Given the description of an element on the screen output the (x, y) to click on. 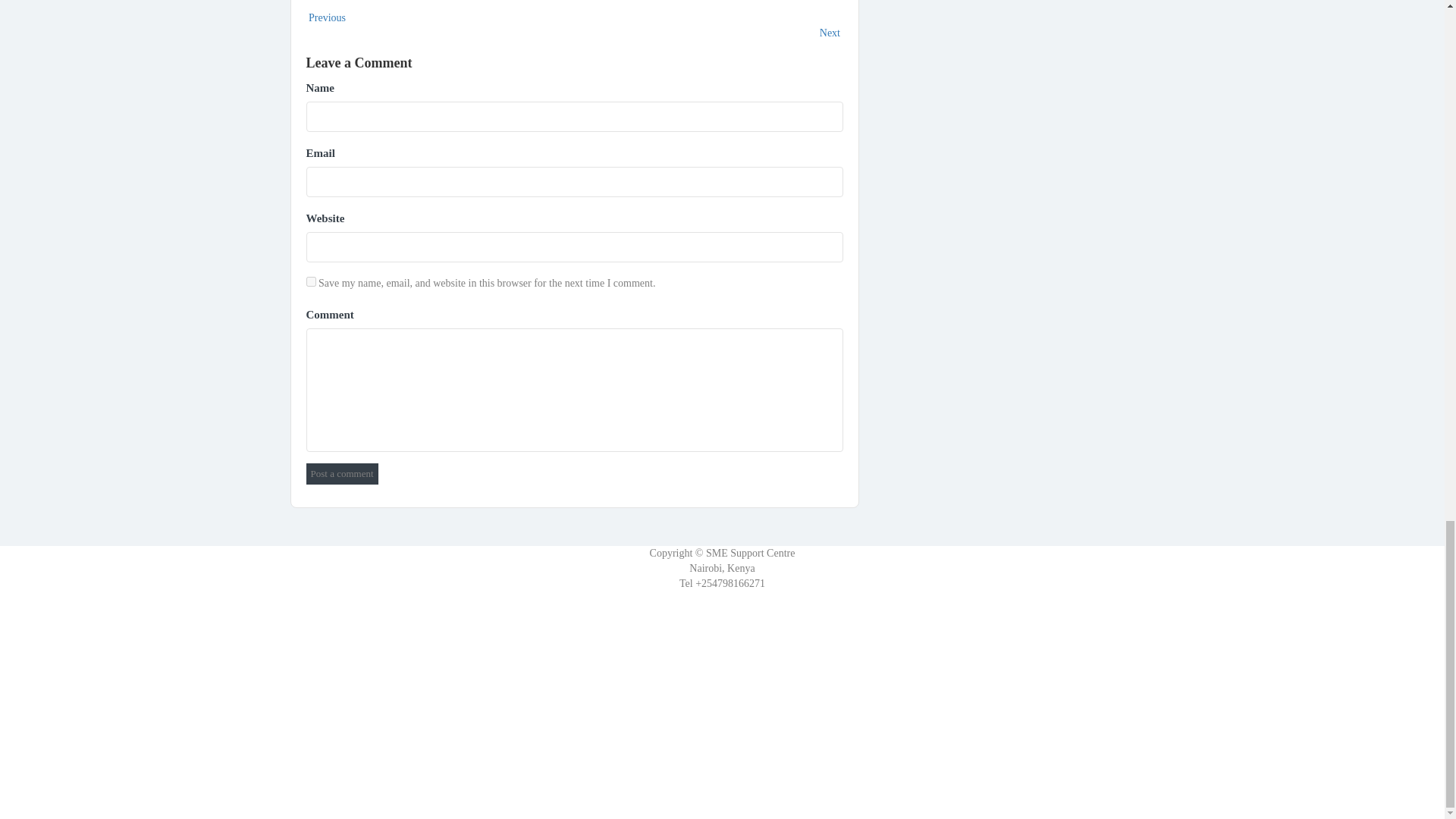
Post a comment (341, 473)
Post a comment (341, 473)
Previous (325, 17)
Next (831, 32)
yes (310, 281)
